Given the description of an element on the screen output the (x, y) to click on. 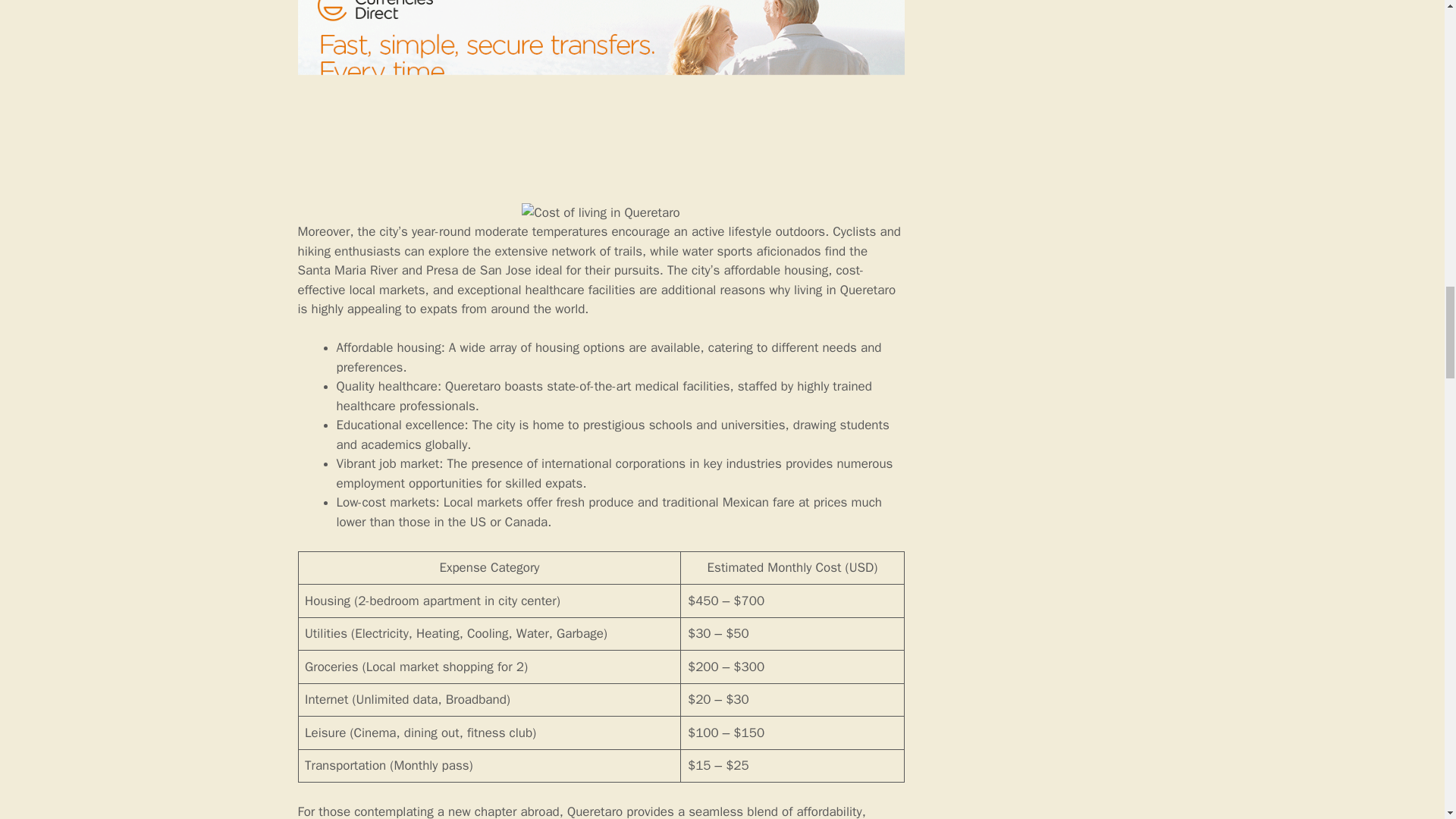
Cost of living in Queretaro (600, 212)
